Given the description of an element on the screen output the (x, y) to click on. 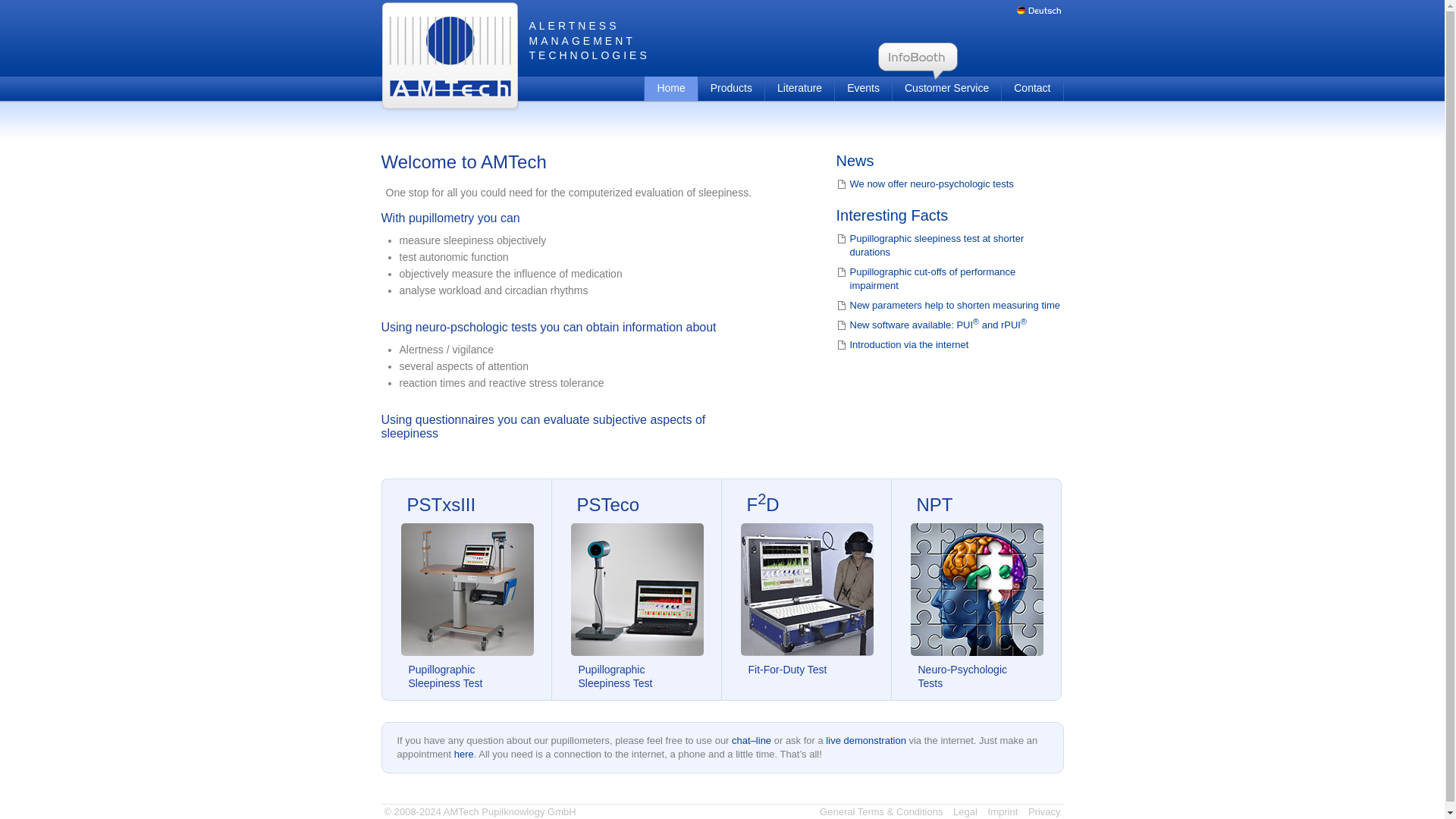
Products (730, 88)
Privacy (1044, 811)
New parameters help to shorten measuring time (948, 305)
Home (670, 88)
live demonstration (865, 740)
Deutsch (1038, 10)
Events (862, 88)
Introduction via the internet (948, 345)
Imprint (1002, 811)
AMTech (449, 56)
